Given the description of an element on the screen output the (x, y) to click on. 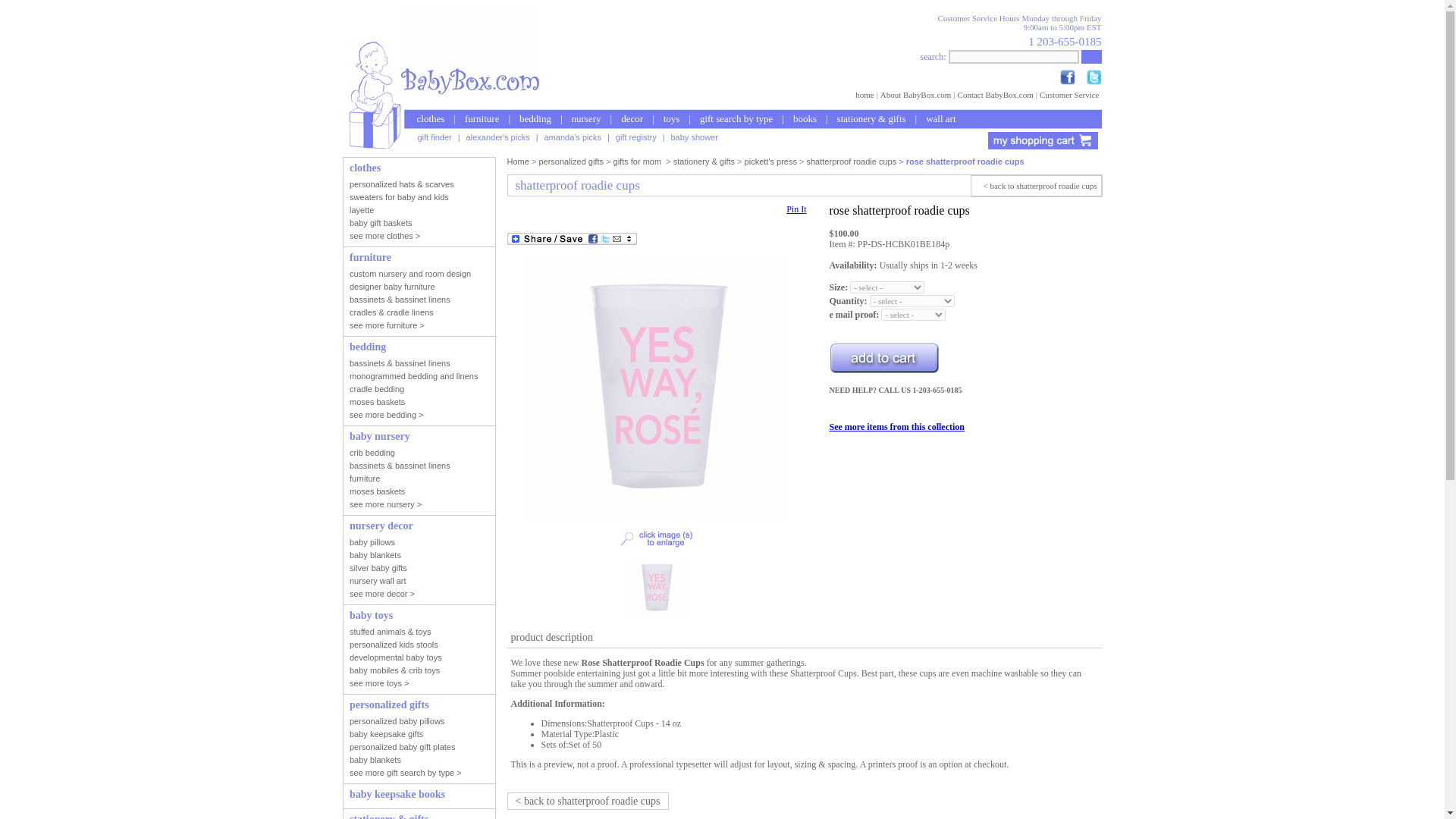
Contact BabyBox.com (995, 93)
nursery (586, 118)
About BabyBox.com (915, 93)
gift search by type (735, 118)
amanda's baby gift picks (572, 136)
furniture (481, 118)
shatterproof roadie cups (851, 161)
Customer Service (1069, 93)
decor (631, 118)
Contact BabyBox.com (995, 93)
gift services (636, 136)
Home (517, 161)
baby keepsake books (804, 118)
furniture (481, 118)
gift finder (433, 136)
